Given the description of an element on the screen output the (x, y) to click on. 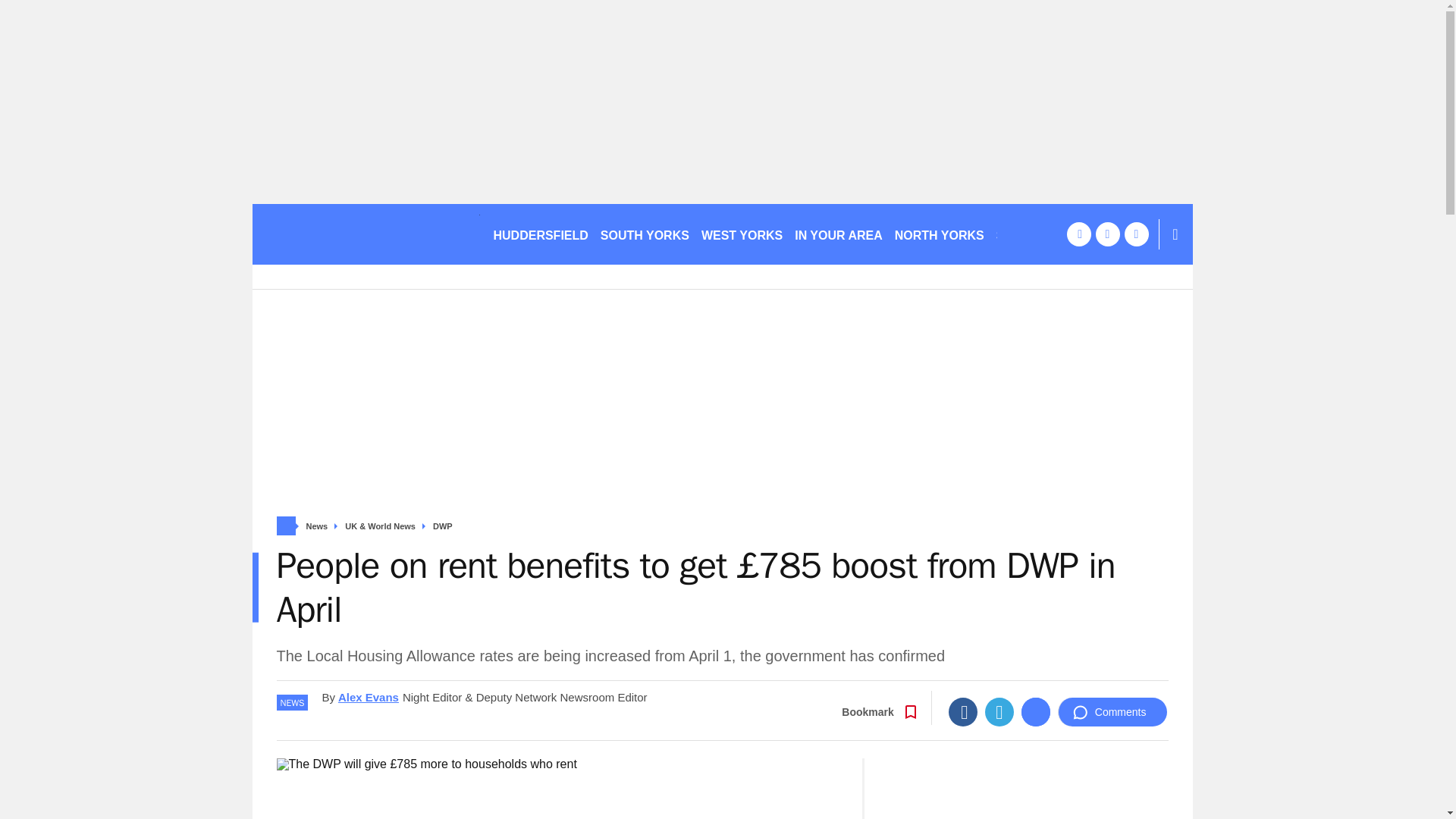
WEST YORKS (742, 233)
Facebook (962, 711)
Comments (1112, 711)
facebook (1077, 233)
Twitter (999, 711)
twitter (1106, 233)
HUDDERSFIELD (540, 233)
huddersfieldexaminer (365, 233)
SPORT (1023, 233)
SOUTH YORKS (644, 233)
